Given the description of an element on the screen output the (x, y) to click on. 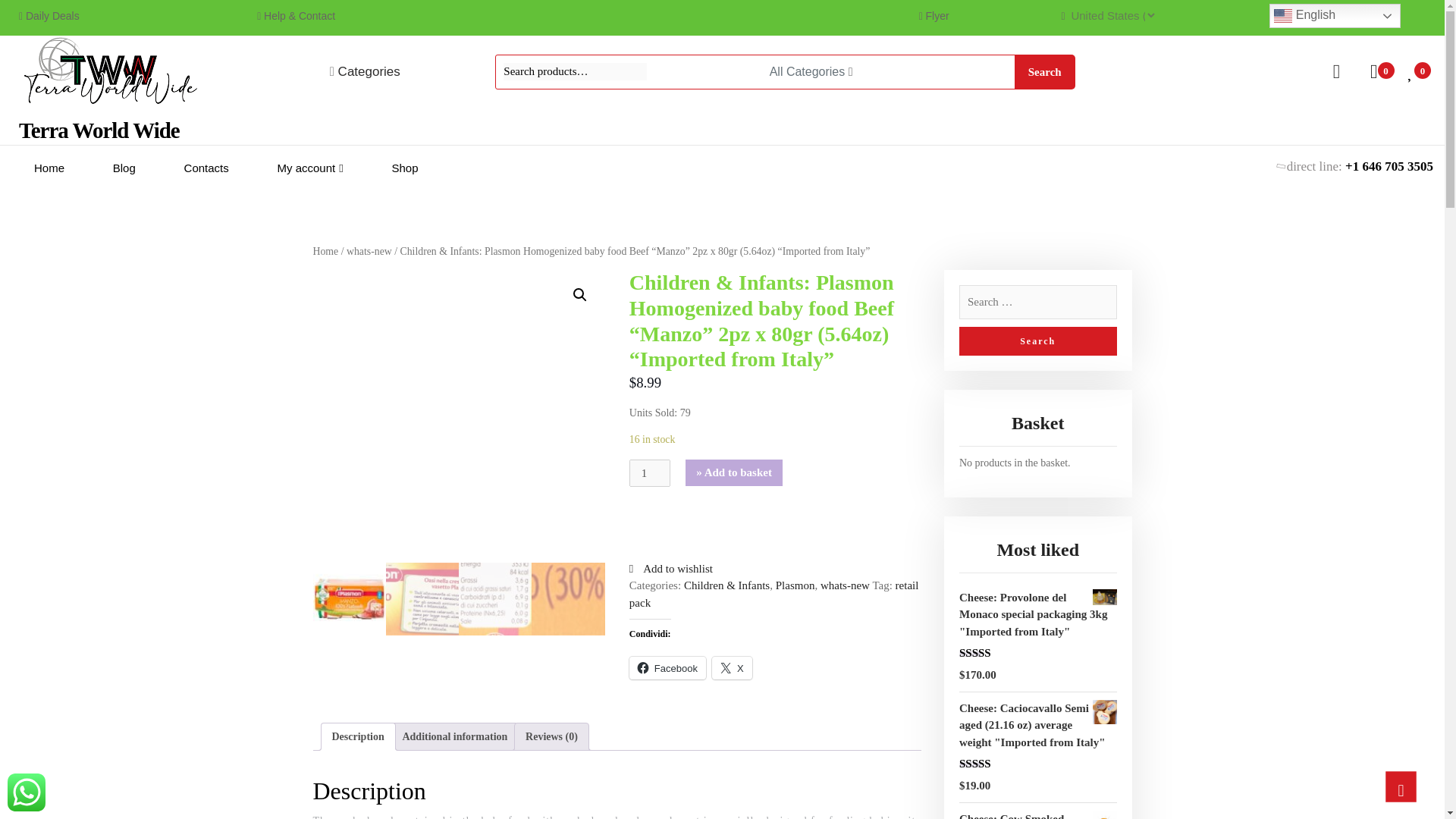
Search (1037, 340)
1 (648, 473)
PayPal (774, 526)
Search (1037, 340)
Click to share on Facebook (667, 667)
Flyer (937, 15)
Daily Deals (53, 15)
English (1334, 15)
